Given the description of an element on the screen output the (x, y) to click on. 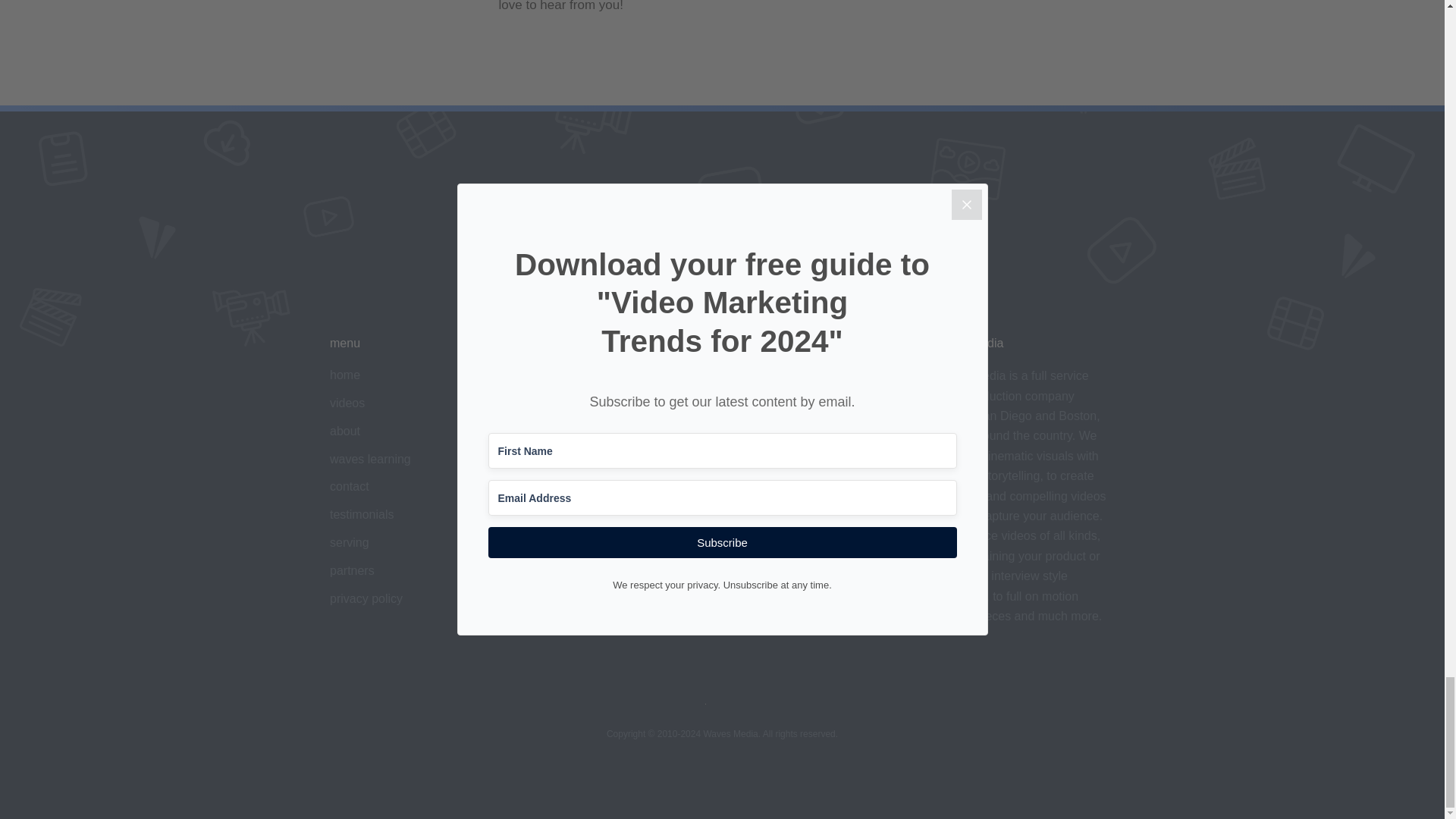
partners (352, 570)
instagram (557, 431)
home (344, 374)
vimeo (547, 374)
videos (347, 402)
testimonials (361, 513)
facebook (555, 459)
about (344, 431)
privacy policy (366, 598)
youtube (552, 402)
waves learning (370, 459)
serving (349, 542)
contact (349, 486)
